Given the description of an element on the screen output the (x, y) to click on. 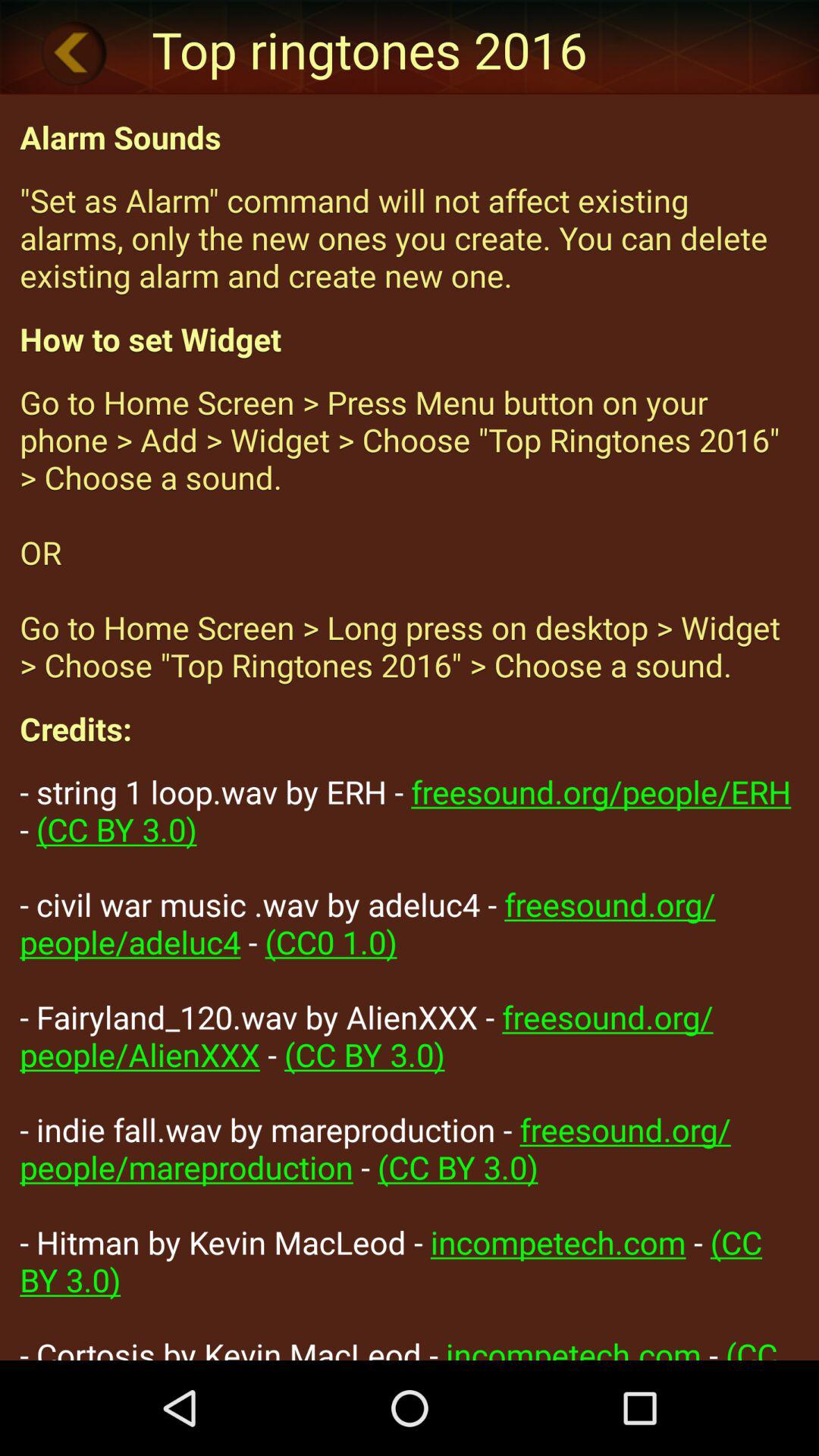
flip to string 1 loop item (409, 1065)
